Given the description of an element on the screen output the (x, y) to click on. 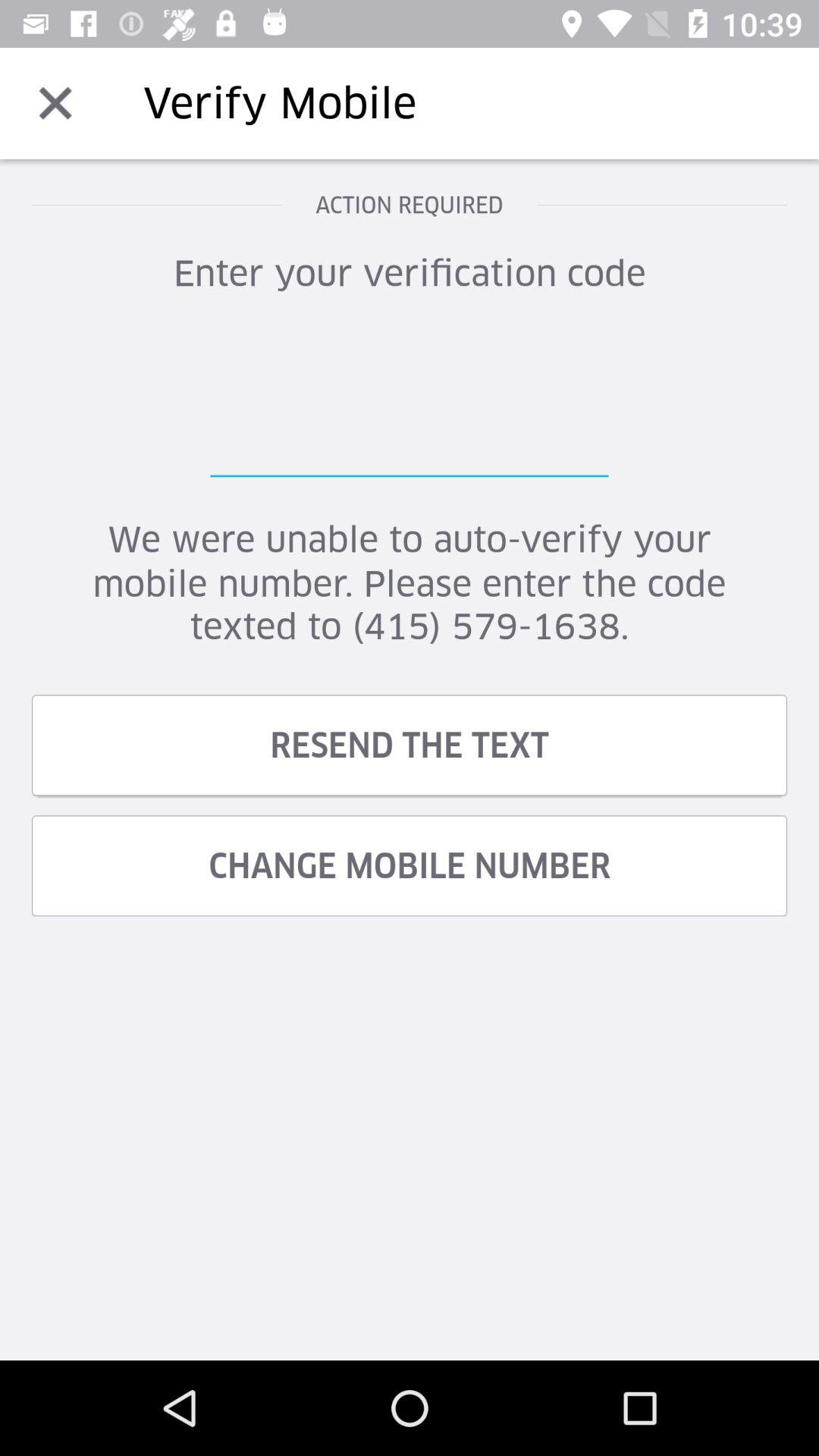
launch resend the text item (409, 745)
